Given the description of an element on the screen output the (x, y) to click on. 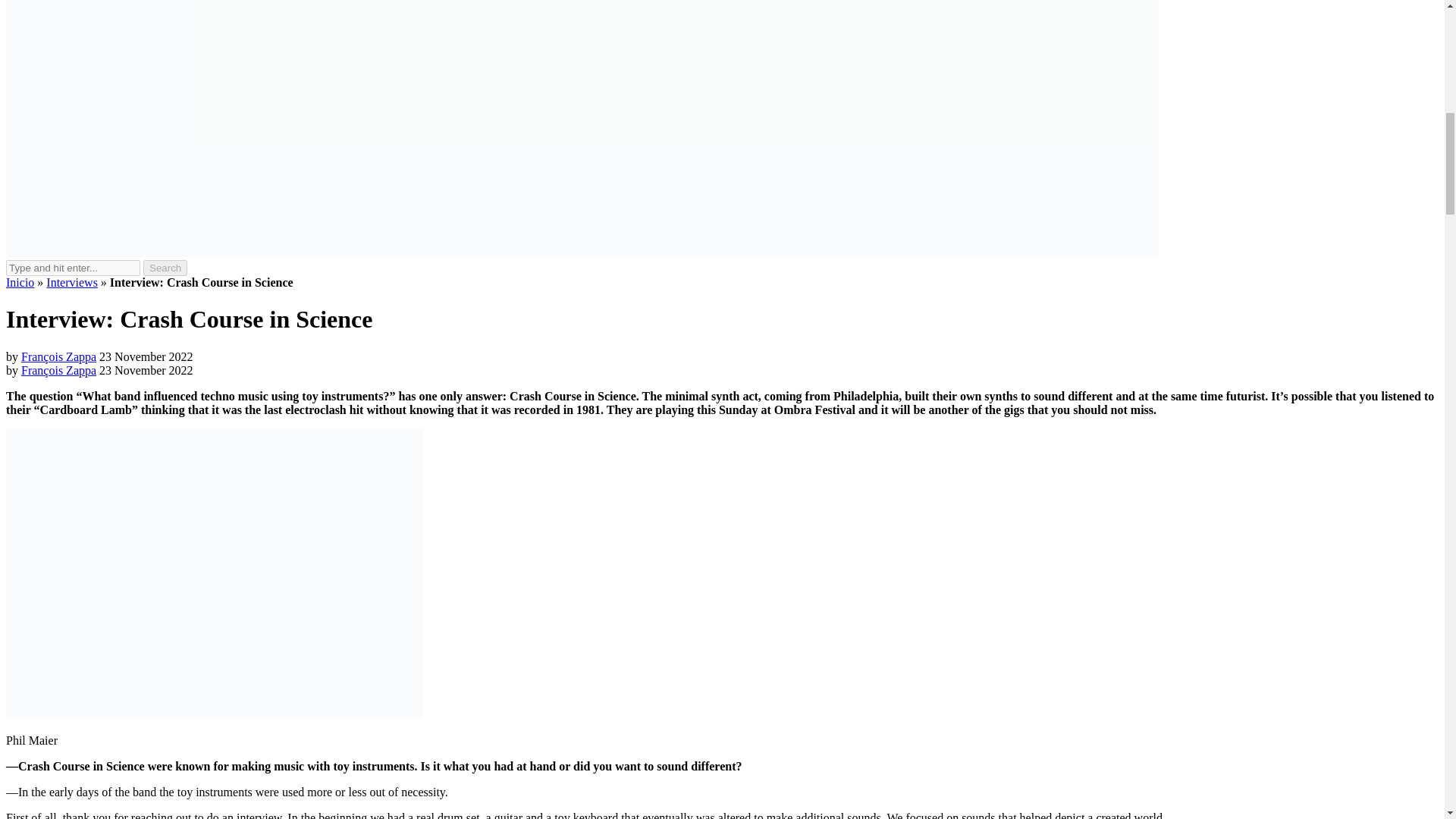
Inicio (19, 282)
Search (164, 268)
Interviews (71, 282)
